Given the description of an element on the screen output the (x, y) to click on. 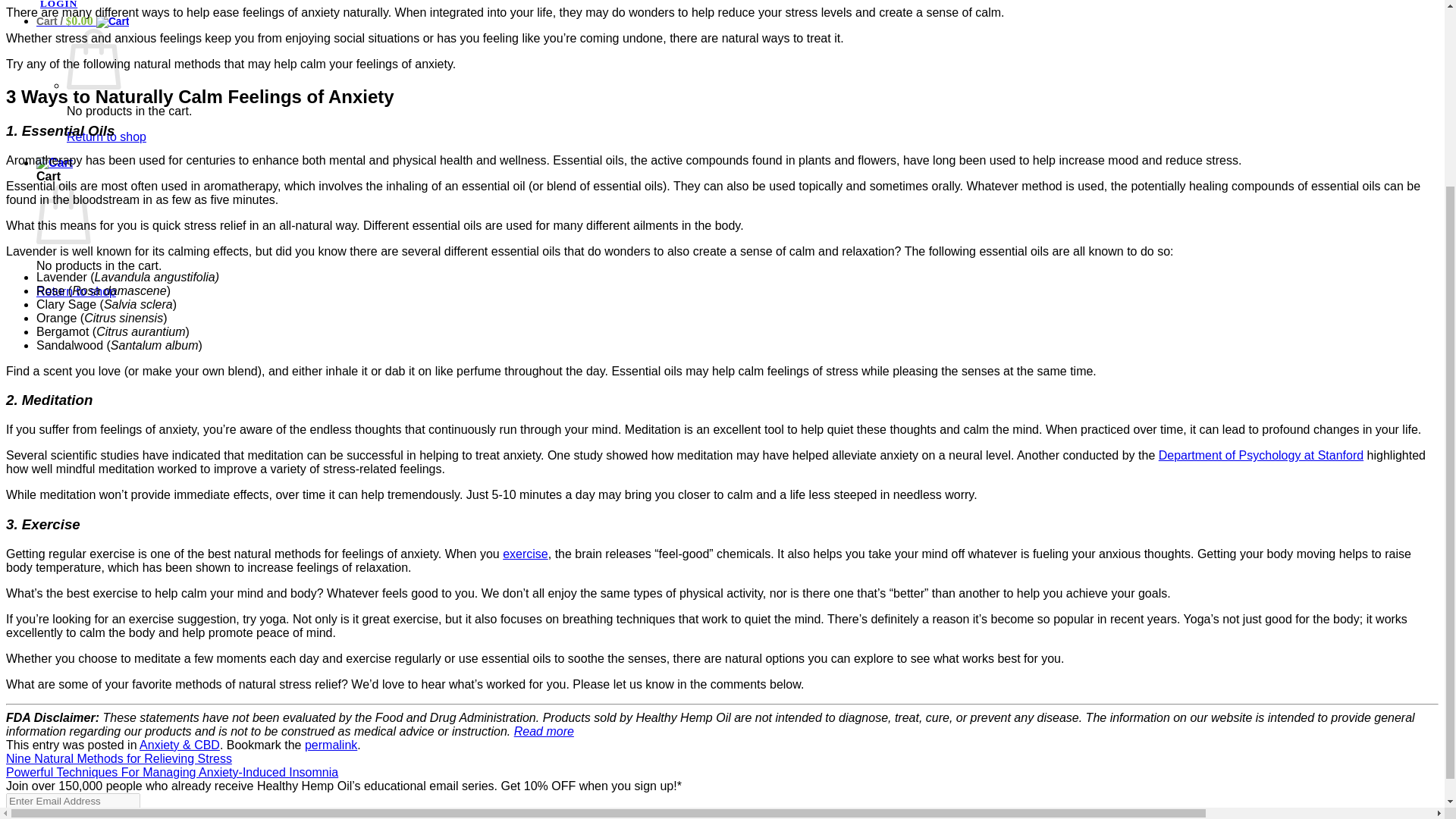
Permalink to 3 Techniques to Help Calm Feelings of Anxiety (330, 744)
Cart (82, 20)
Cart (54, 162)
